Given the description of an element on the screen output the (x, y) to click on. 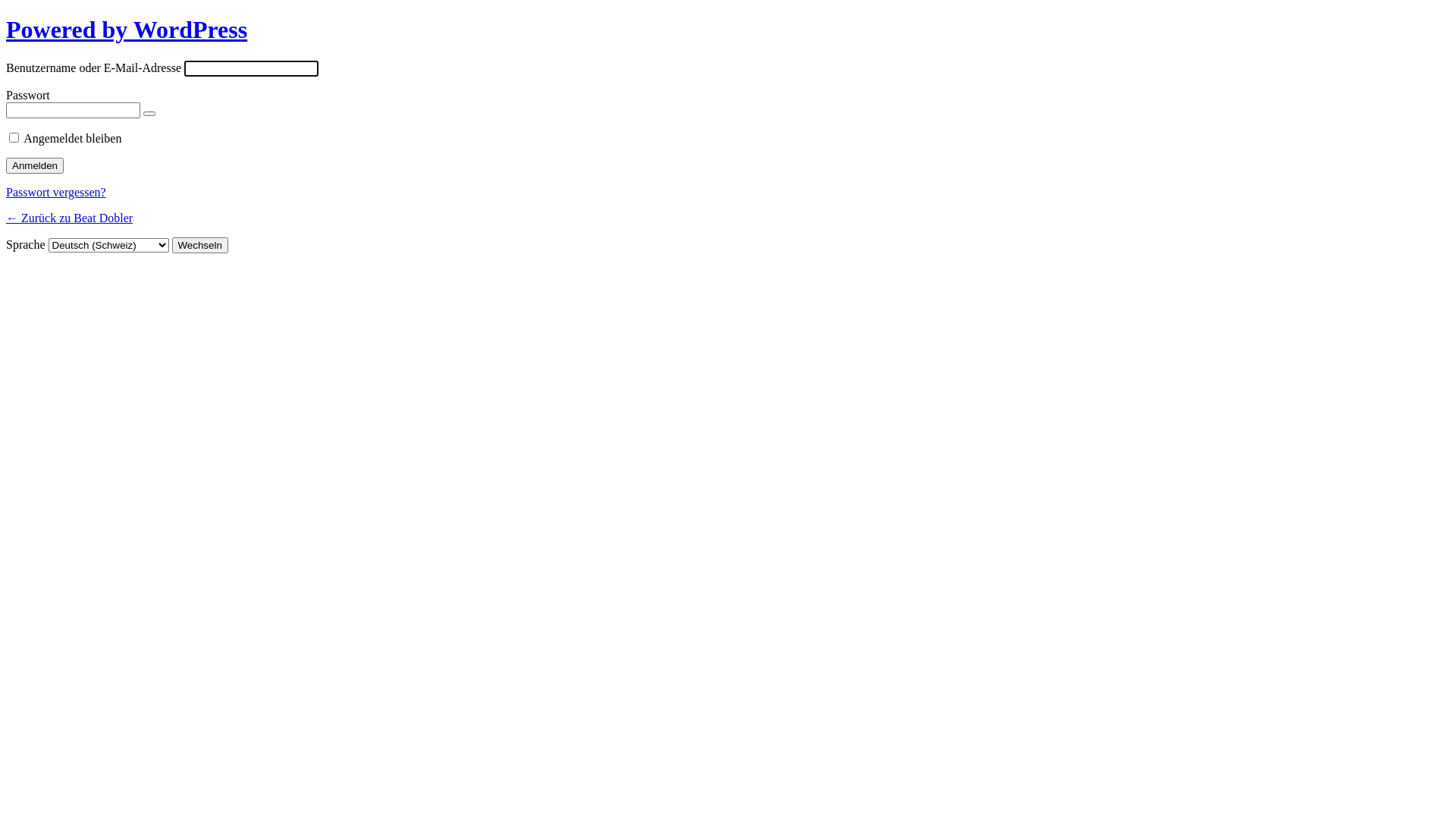
Anmelden Element type: text (34, 165)
Wechseln Element type: text (200, 245)
Powered by WordPress Element type: text (126, 29)
Passwort vergessen? Element type: text (56, 191)
